Given the description of an element on the screen output the (x, y) to click on. 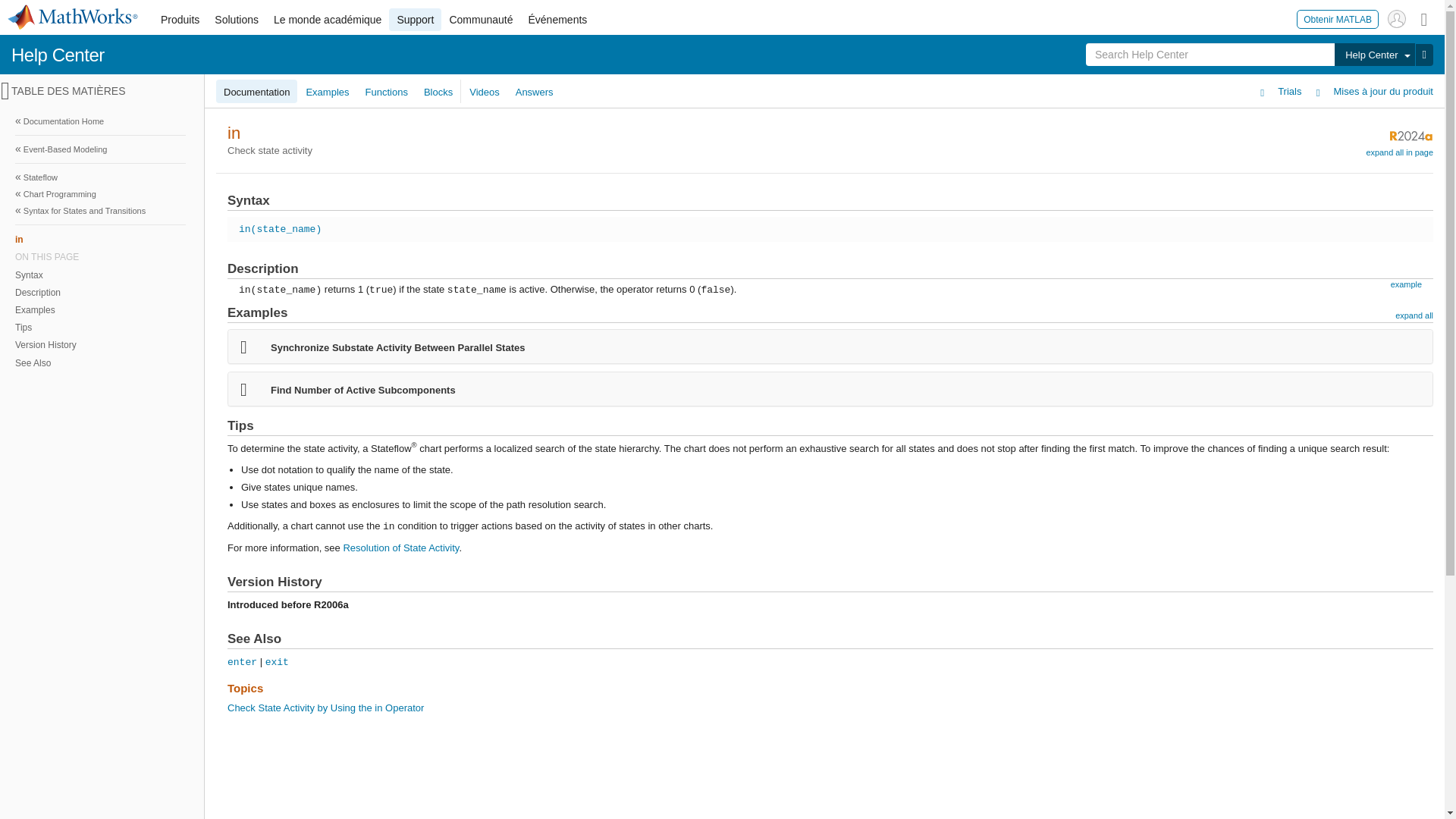
ON THIS PAGE (100, 256)
in (100, 239)
Solutions (236, 19)
Obtenir MATLAB (1337, 18)
Support (414, 19)
Produits (179, 19)
Matrix Menu (1423, 18)
Se connecter (1396, 18)
